Given the description of an element on the screen output the (x, y) to click on. 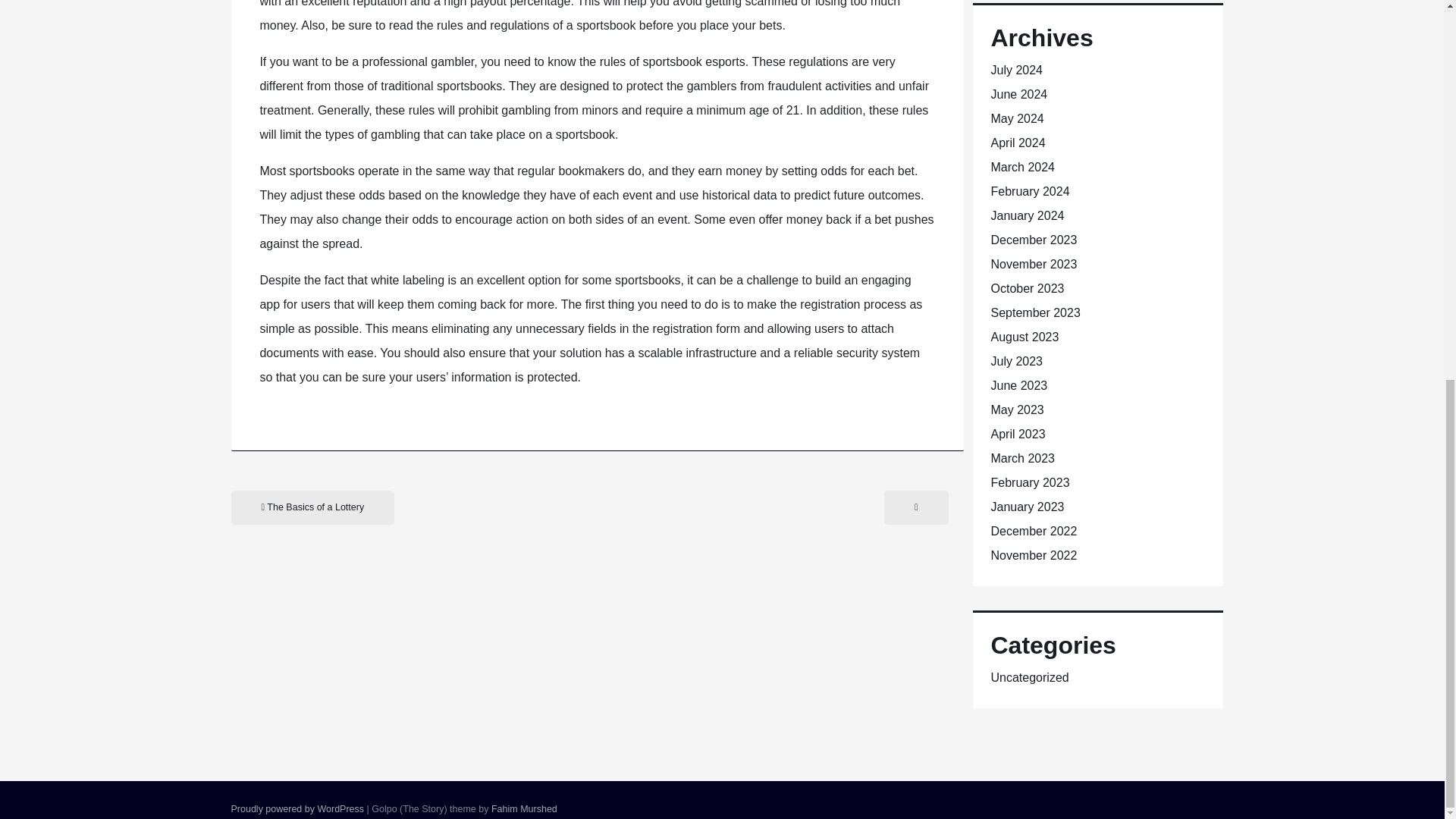
April 2024 (1017, 142)
October 2023 (1027, 287)
May 2024 (1016, 118)
July 2023 (1016, 360)
March 2023 (1022, 458)
June 2023 (1018, 385)
January 2023 (1027, 506)
September 2023 (1035, 312)
The Basics of a Lottery (312, 507)
December 2023 (1033, 239)
August 2023 (1024, 336)
November 2023 (1033, 264)
February 2024 (1029, 191)
May 2023 (1016, 409)
July 2024 (1016, 69)
